Given the description of an element on the screen output the (x, y) to click on. 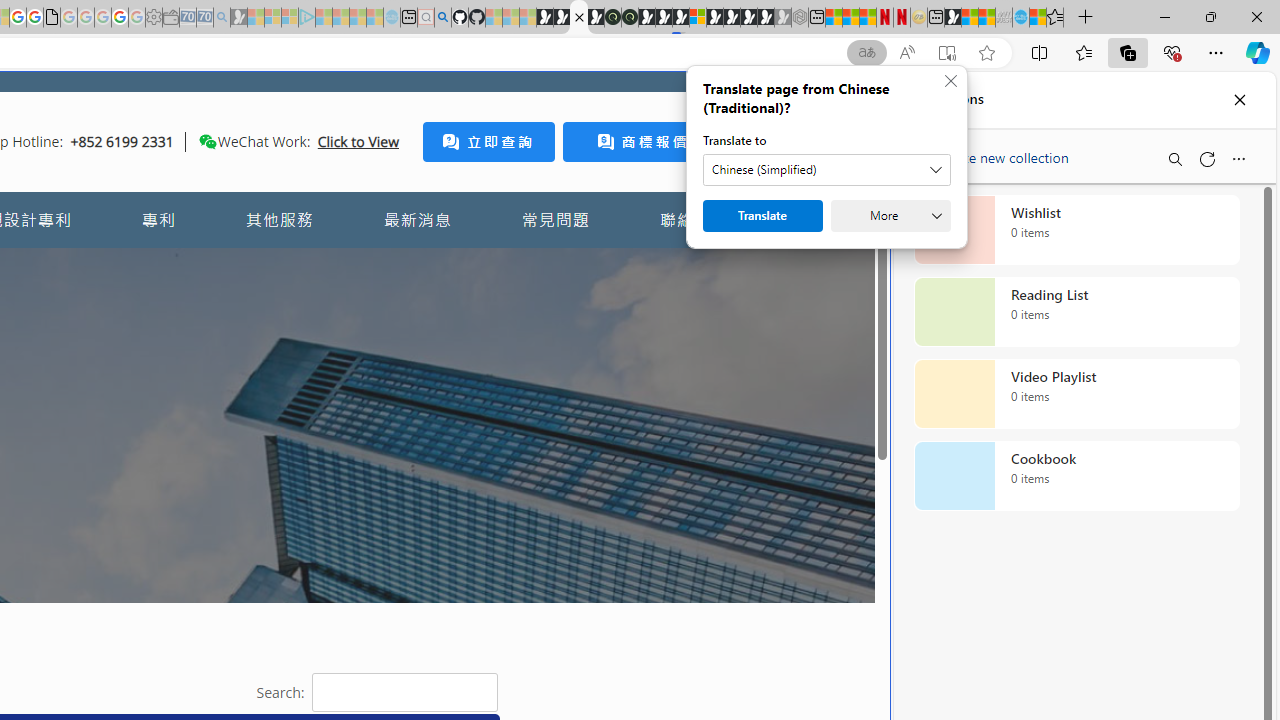
Play Cave FRVR in your browser | Games from Microsoft Start (663, 17)
Wishlist collection, 0 items (1076, 229)
EN (818, 220)
Settings - Sleeping (153, 17)
EN (818, 220)
